Given the description of an element on the screen output the (x, y) to click on. 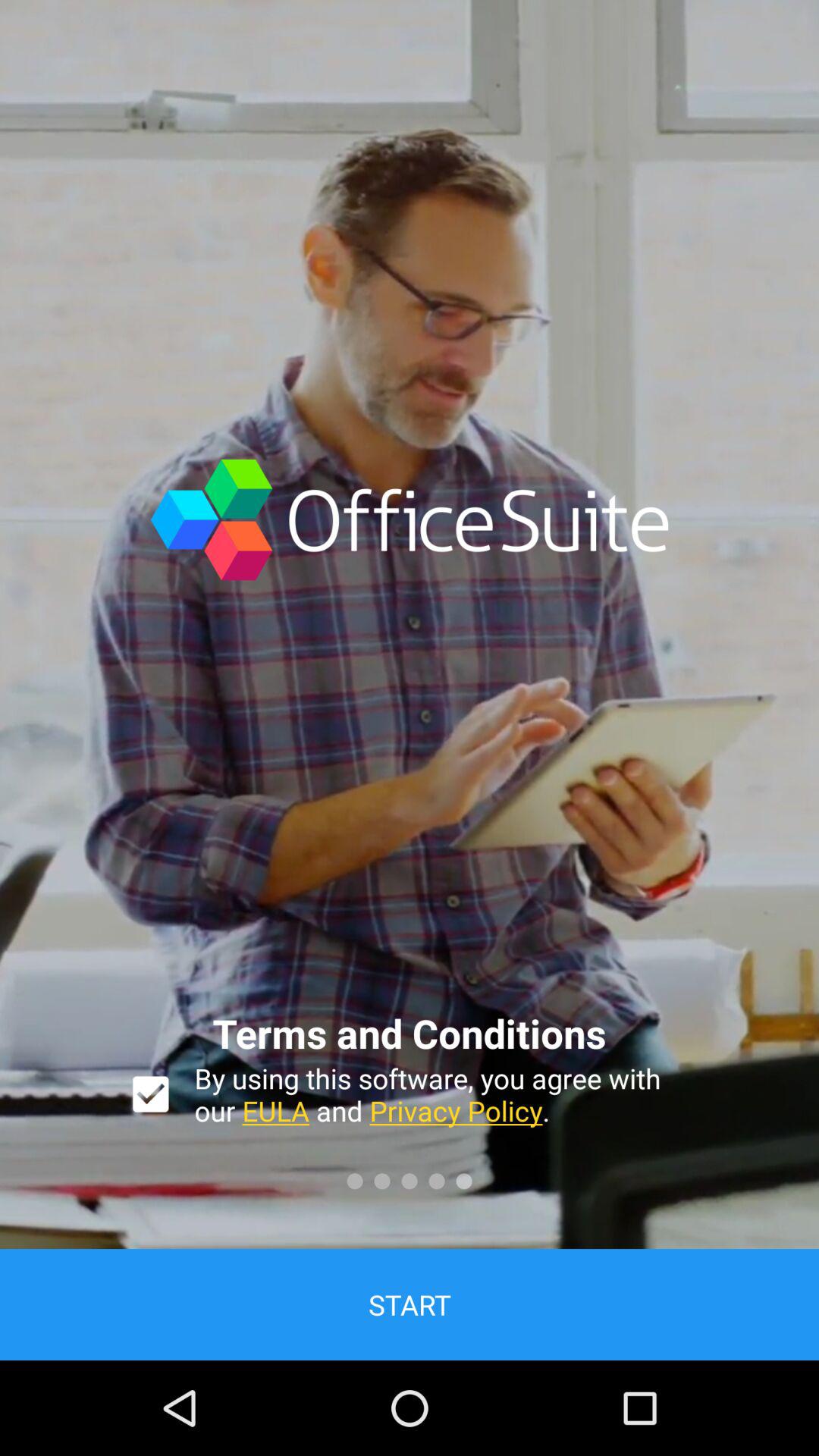
agree with eula (150, 1094)
